Given the description of an element on the screen output the (x, y) to click on. 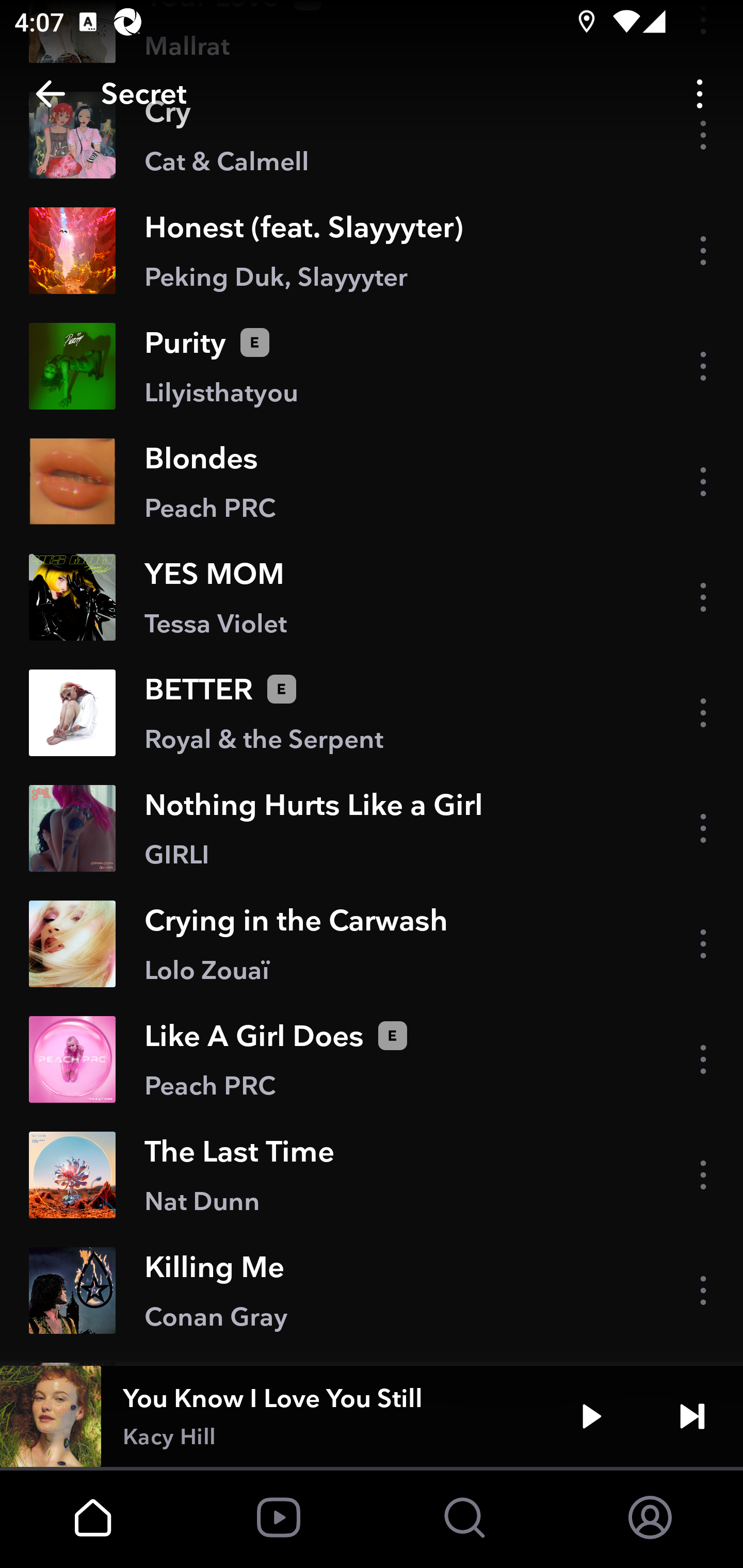
Options (699, 93)
Cry Cat & Calmell (371, 134)
Honest (feat. Slayyyter) Peking Duk, Slayyyter (371, 250)
Purity Lilyisthatyou (371, 365)
Blondes Peach PRC (371, 481)
YES MOM Tessa Violet (371, 597)
BETTER Royal & the Serpent (371, 712)
Nothing Hurts Like a Girl GIRLI (371, 827)
Crying in the Carwash Lolo Zouaï (371, 943)
Like A Girl Does Peach PRC (371, 1058)
The Last Time Nat Dunn (371, 1174)
Killing Me Conan Gray (371, 1290)
You Know I Love You Still Kacy Hill Play (371, 1416)
Play (590, 1416)
